Given the description of an element on the screen output the (x, y) to click on. 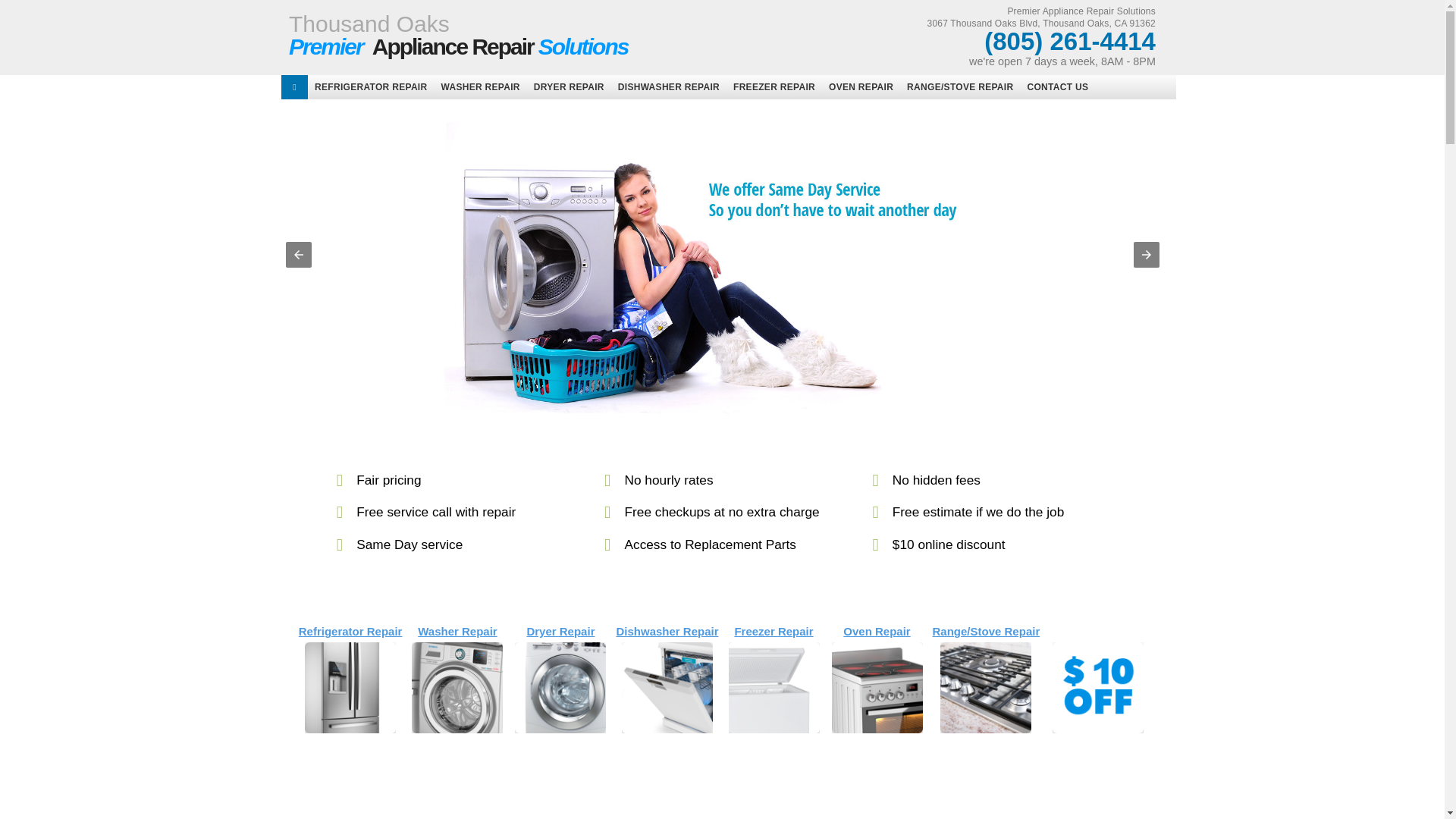
DRYER REPAIR (569, 87)
OVEN REPAIR (860, 87)
DISHWASHER REPAIR (668, 87)
Contact Us in Thousand Oaks, CA (1057, 87)
REFRIGERATOR REPAIR (538, 35)
Homepage (370, 87)
CONTACT US (538, 35)
Refrigerator repair in Thousand Oaks, CA (1057, 87)
Oven repair in Thousand Oaks, CA (370, 87)
